Given the description of an element on the screen output the (x, y) to click on. 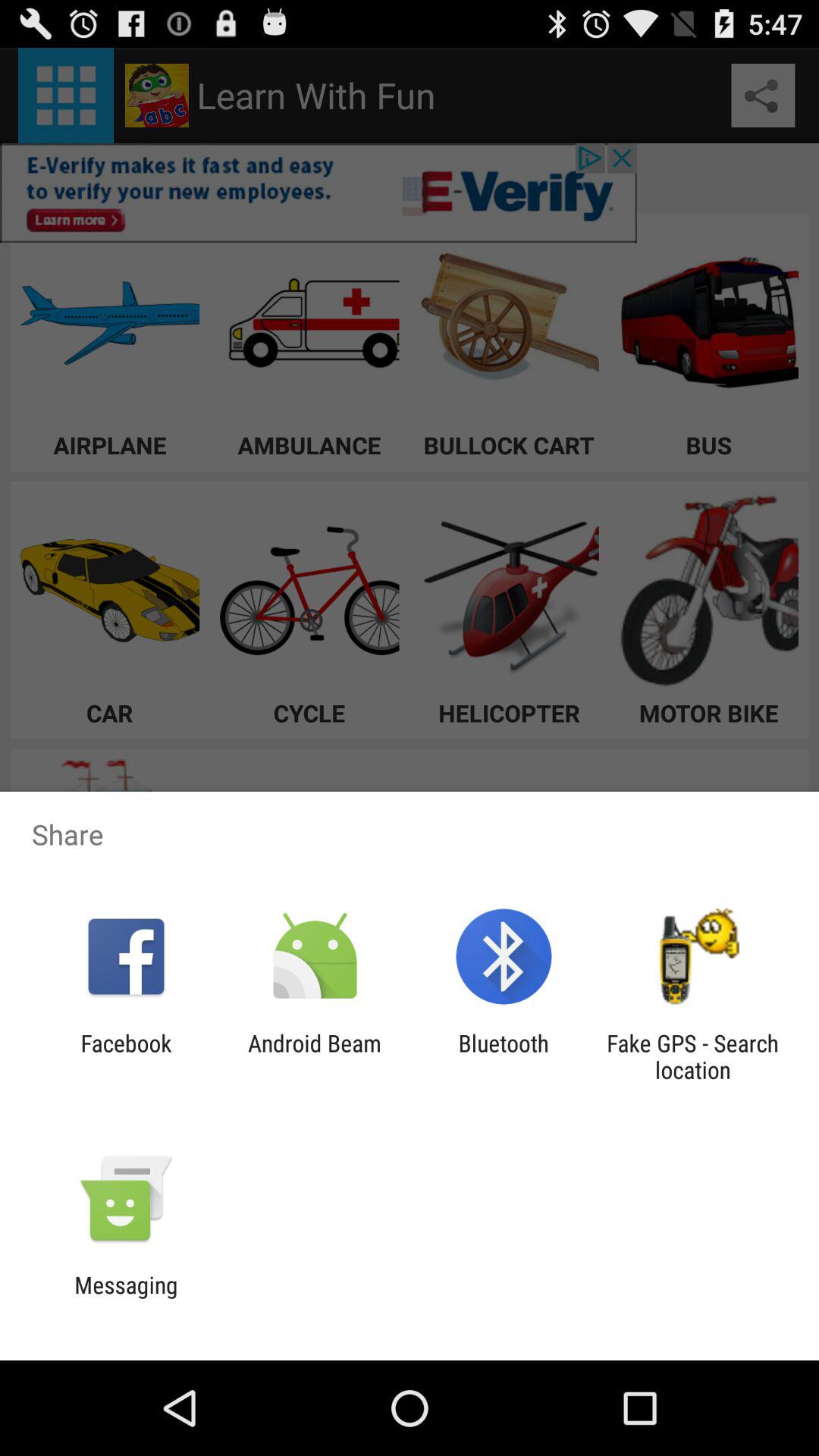
select the fake gps search app (692, 1056)
